Given the description of an element on the screen output the (x, y) to click on. 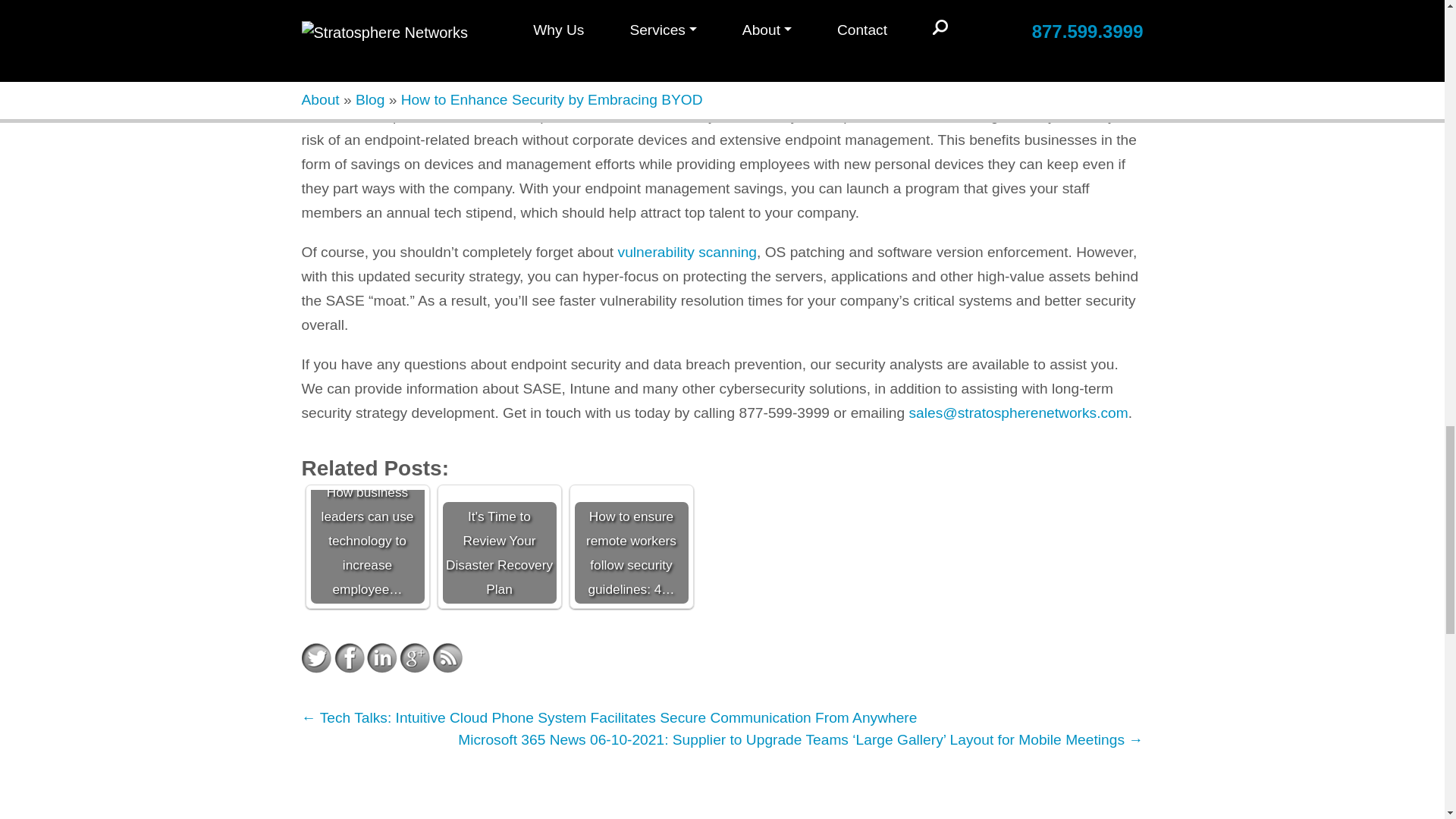
Send to facebook (348, 657)
It's Time to Review Your Disaster Recovery Plan (499, 546)
Send to linkedin (381, 657)
View rss feed (447, 657)
Tweet this (316, 657)
